Given the description of an element on the screen output the (x, y) to click on. 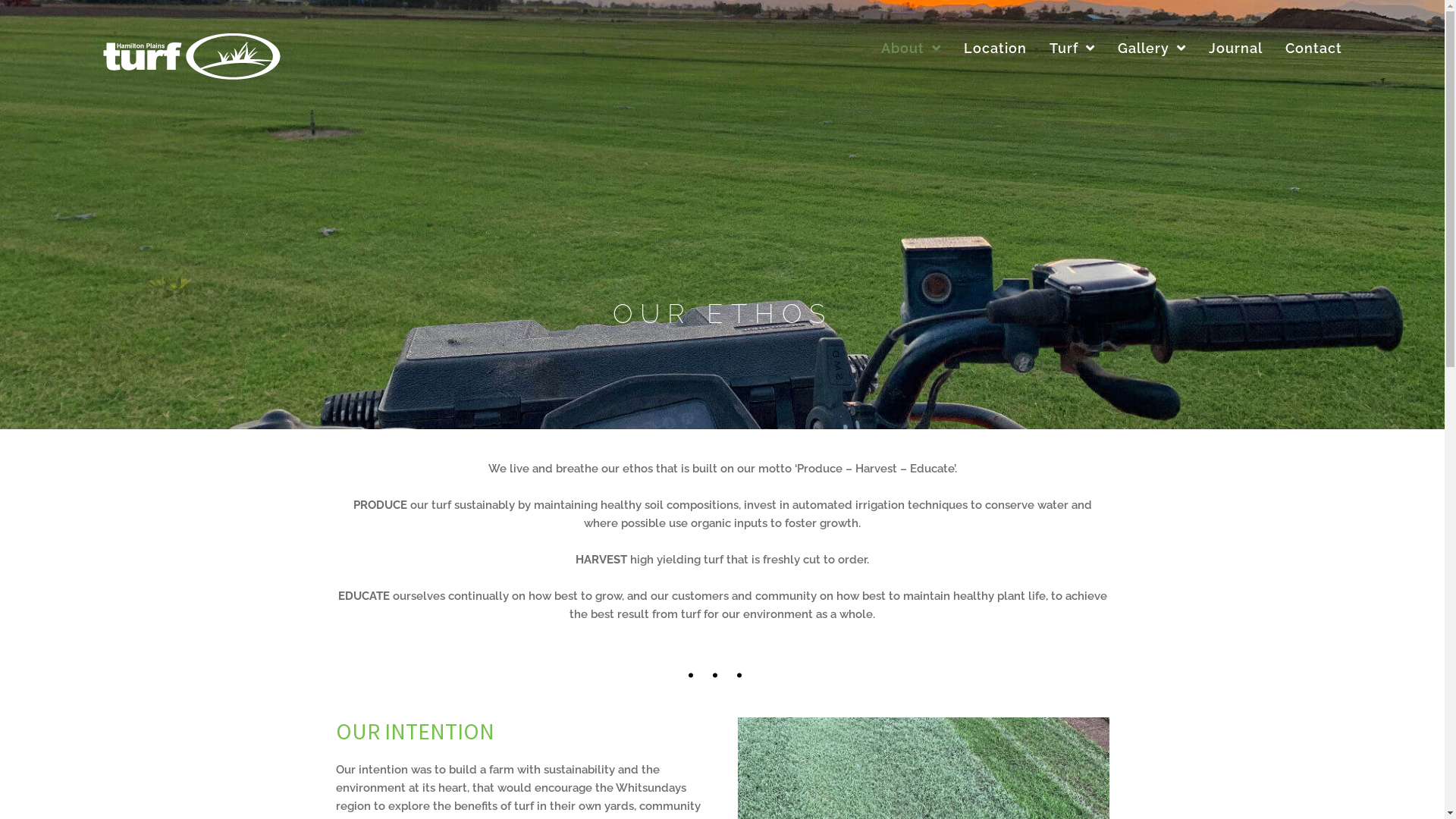
Hamilton-Plains-Turf-Logo-2021 Element type: hover (187, 57)
Location Element type: text (995, 48)
Journal Element type: text (1235, 48)
Contact Element type: text (1313, 48)
Turf Element type: text (1071, 48)
Gallery Element type: text (1151, 48)
About Element type: text (910, 48)
